Given the description of an element on the screen output the (x, y) to click on. 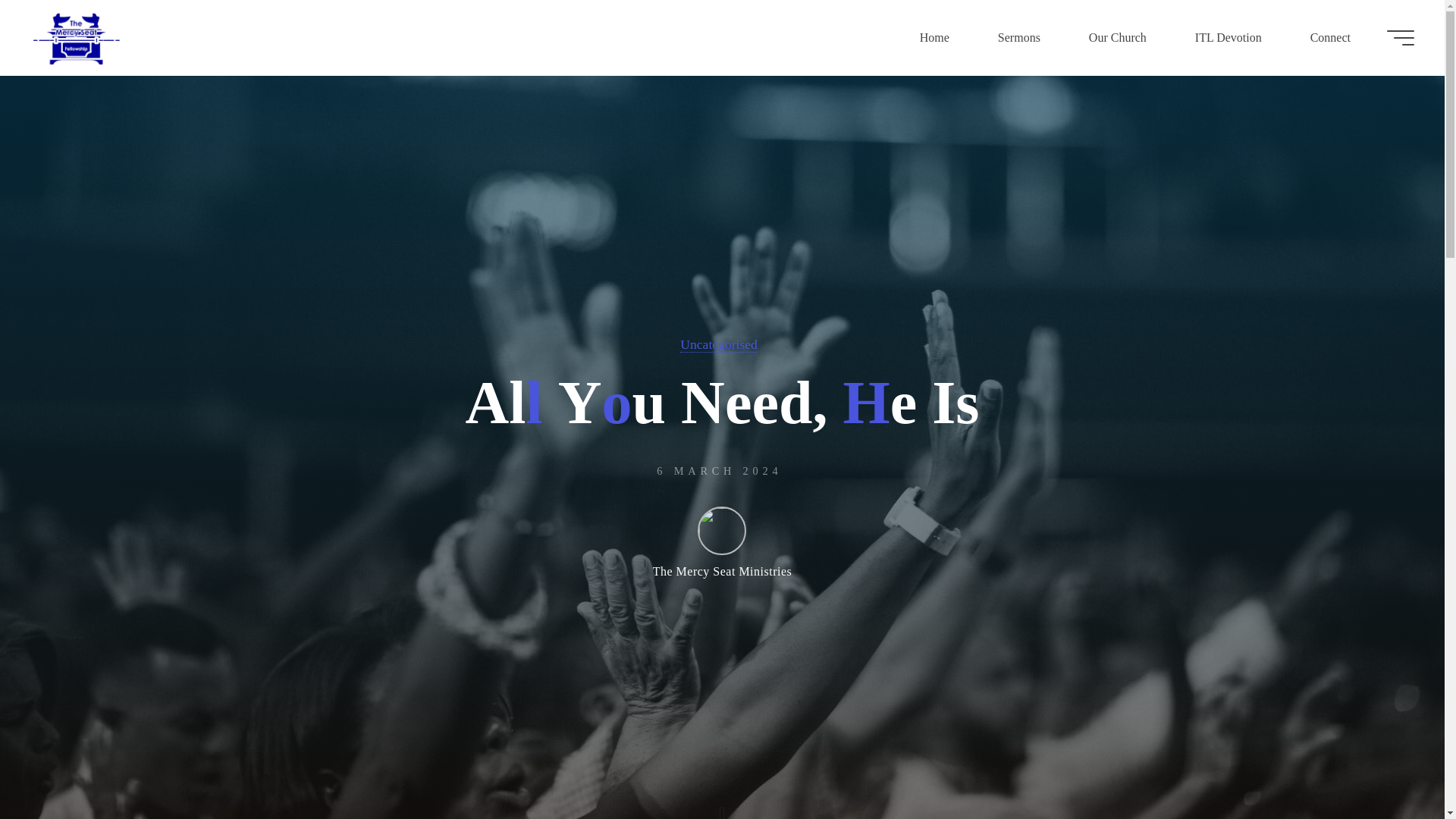
Uncategorised (718, 344)
The Mercy Seat Ministries (722, 542)
Our Church (1117, 38)
Sermons (1019, 38)
Read more (721, 800)
The Mercy Seat Ministries. (76, 37)
Connect (1329, 38)
ITL Devotion (1227, 38)
Home (934, 38)
View all posts by The Mercy Seat Ministries (722, 542)
